Given the description of an element on the screen output the (x, y) to click on. 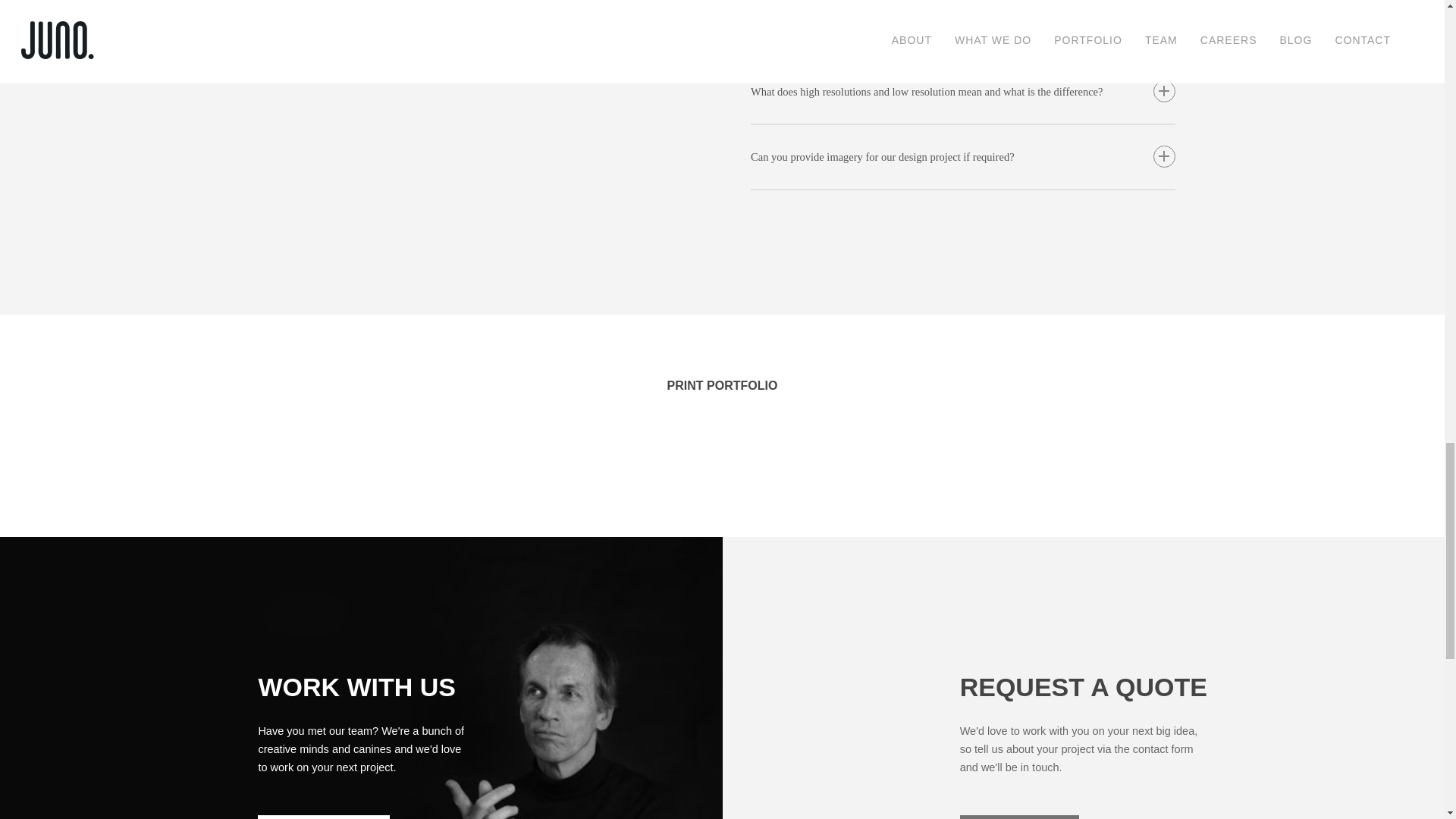
Can you provide imagery for our design project if required? (962, 157)
What is the difference between digital and offset printing? (962, 29)
